Given the description of an element on the screen output the (x, y) to click on. 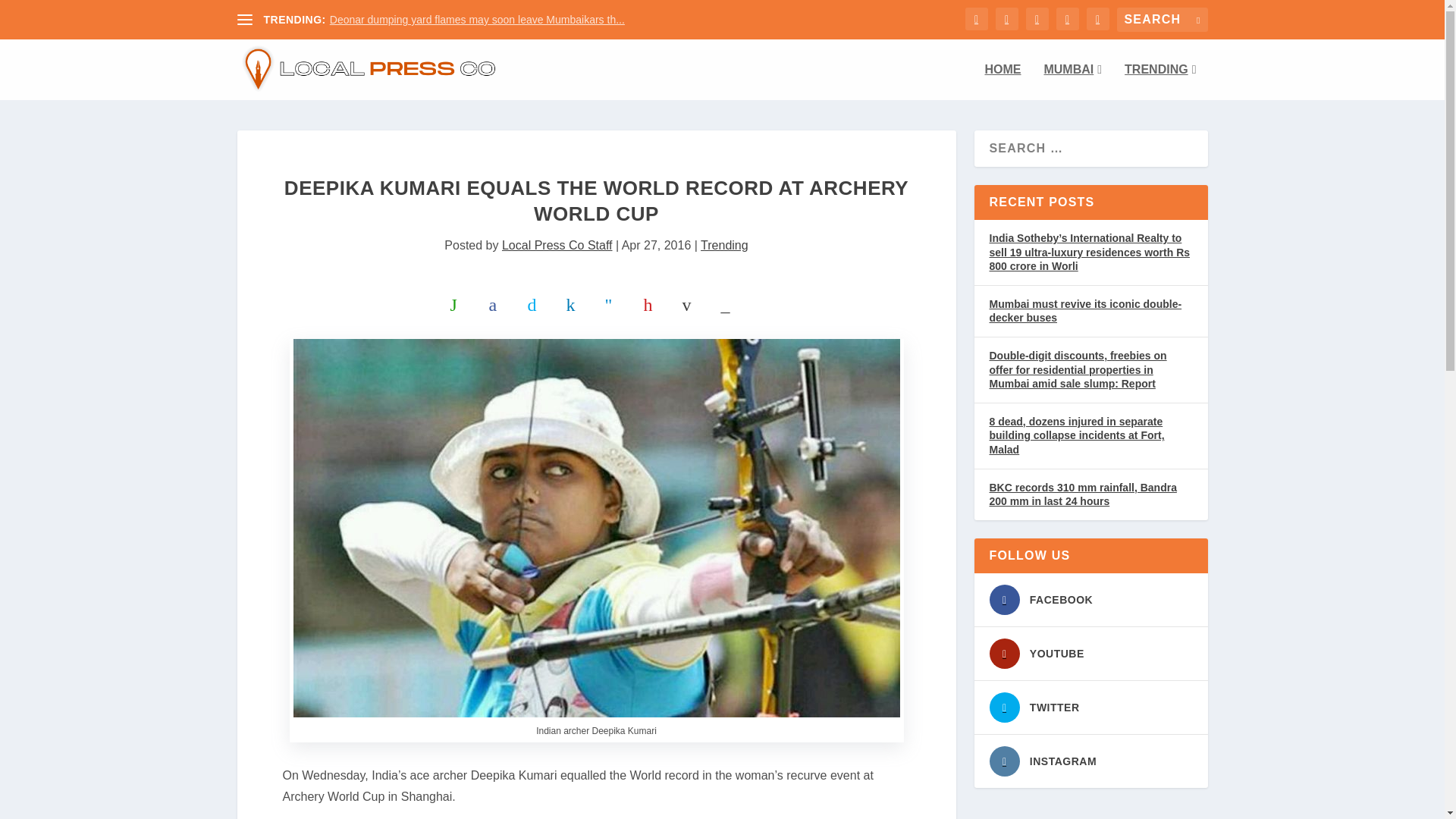
Search for: (1161, 19)
HOME (1002, 81)
MUMBAI (1072, 81)
Deonar dumping yard flames may soon leave Mumbaikars th... (477, 19)
TRENDING (1159, 81)
